Given the description of an element on the screen output the (x, y) to click on. 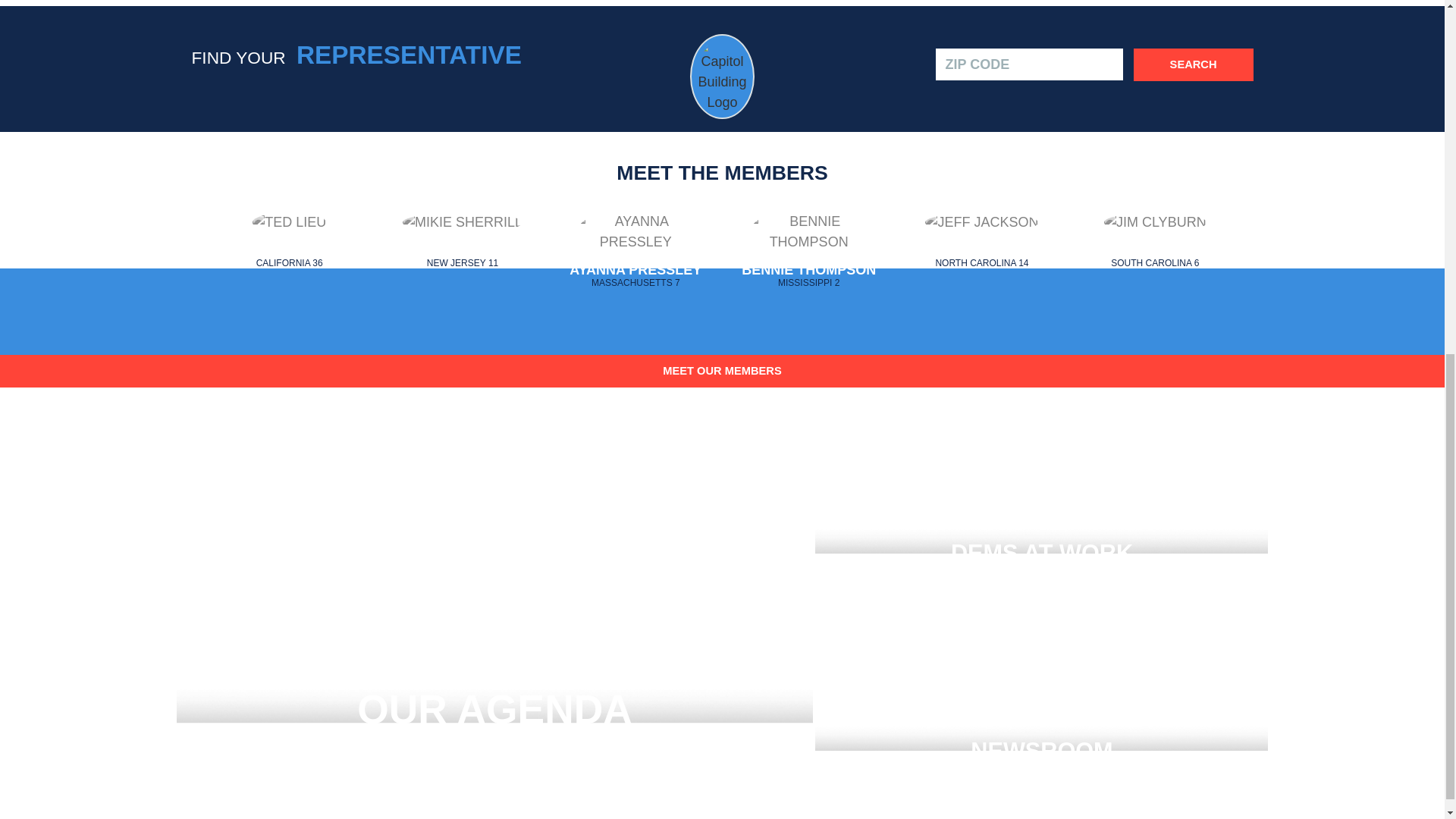
SEARCH (635, 255)
